Given the description of an element on the screen output the (x, y) to click on. 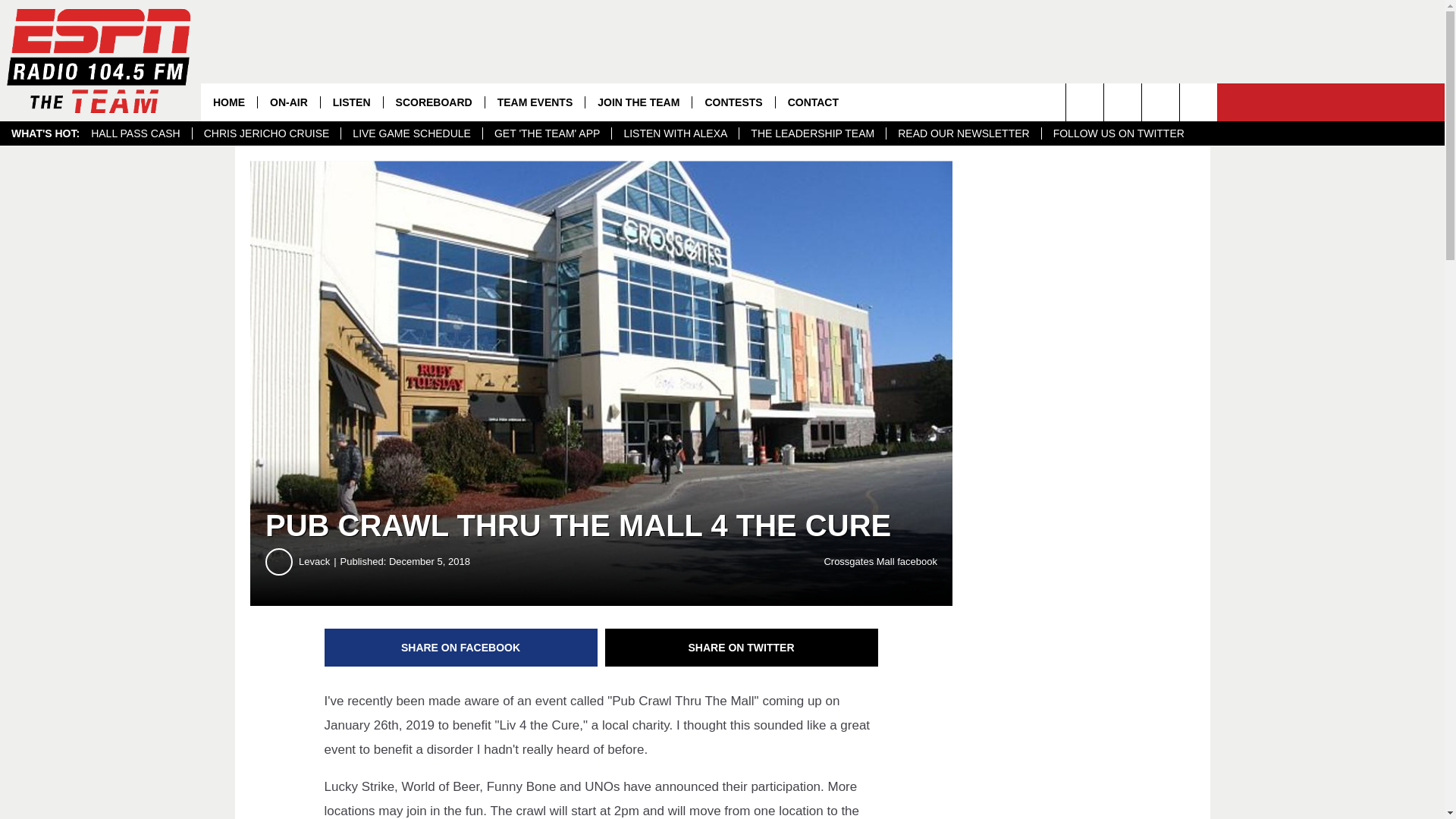
JOIN THE TEAM (638, 102)
CONTESTS (732, 102)
HALL PASS CASH (136, 133)
Share on Twitter (741, 647)
LISTEN WITH ALEXA (674, 133)
CHRIS JERICHO CRUISE (266, 133)
TEAM EVENTS (534, 102)
LIVE GAME SCHEDULE (410, 133)
GET 'THE TEAM' APP (546, 133)
Share on Facebook (460, 647)
